Given the description of an element on the screen output the (x, y) to click on. 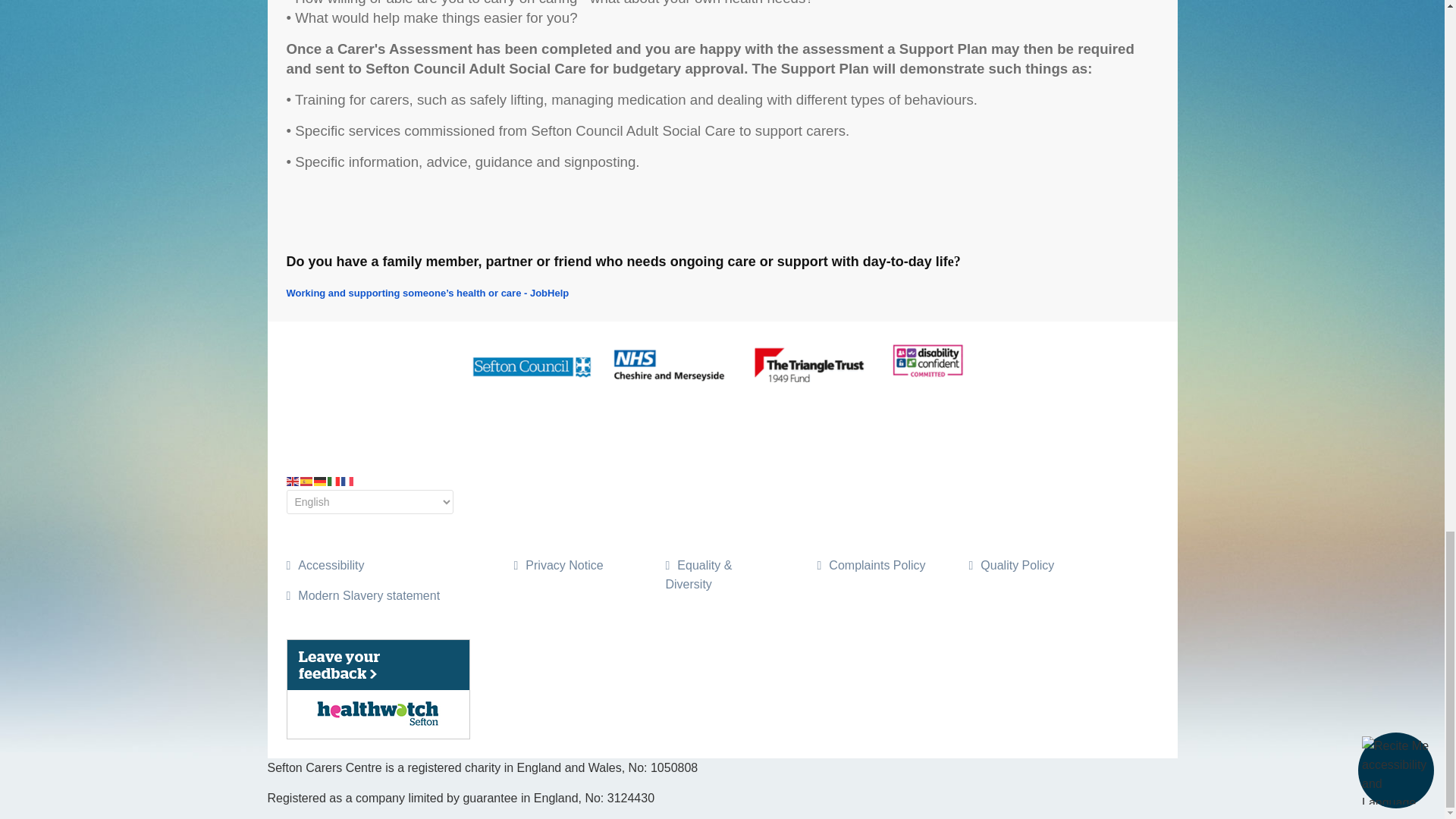
Italiano (333, 480)
Deutsch (320, 480)
English (292, 480)
